Given the description of an element on the screen output the (x, y) to click on. 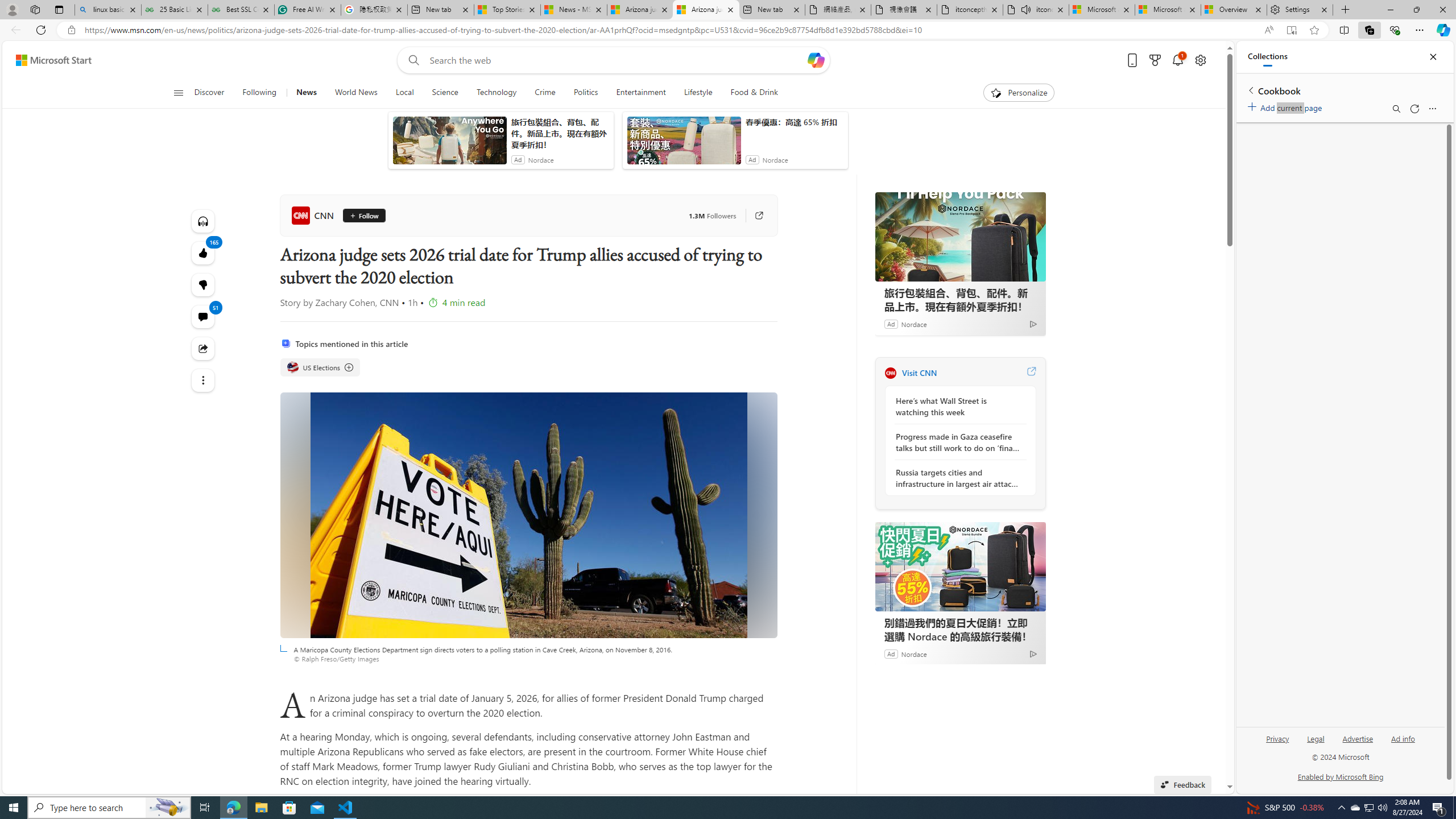
Follow (359, 215)
Class: button-glyph (178, 92)
World News (355, 92)
CNN (889, 372)
Crime (544, 92)
Entertainment (641, 92)
